Given the description of an element on the screen output the (x, y) to click on. 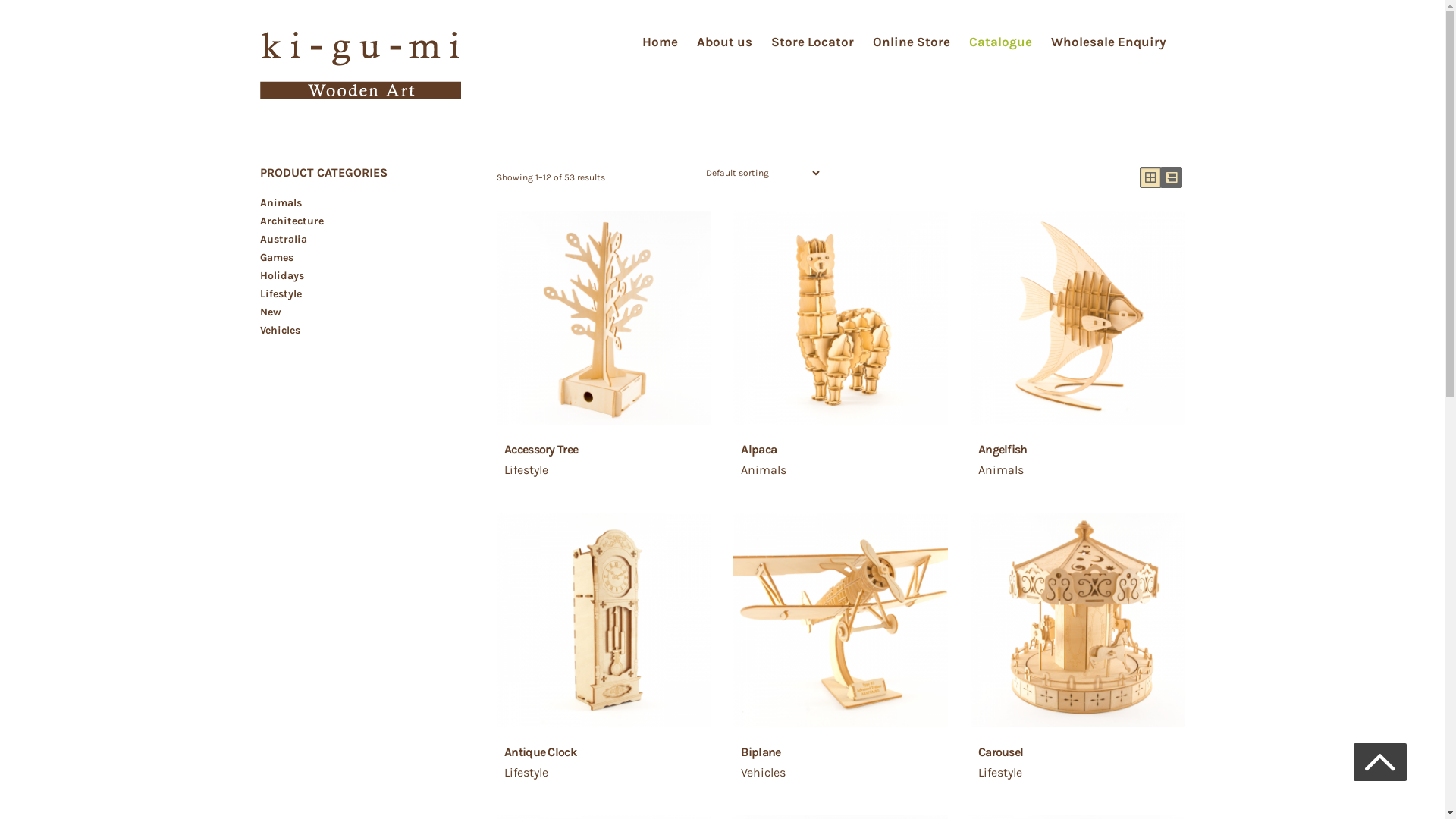
Holidays Element type: text (281, 275)
New Element type: text (269, 311)
Home Element type: text (659, 41)
Online Store Element type: text (910, 41)
Store Locator Element type: text (811, 41)
Vehicles Element type: text (279, 329)
Accessory Tree Element type: text (611, 456)
Biplane Element type: text (847, 759)
Alpaca Element type: text (847, 456)
Animals Element type: text (1000, 469)
Animals Element type: text (763, 469)
Lifestyle Element type: text (1000, 772)
Games Element type: text (275, 257)
Vehicles Element type: text (762, 772)
About us Element type: text (723, 41)
Lifestyle Element type: text (526, 772)
Antique Clock Element type: text (611, 759)
Architecture Element type: text (291, 220)
Lifestyle Element type: text (280, 293)
Lifestyle Element type: text (526, 469)
Animals Element type: text (280, 202)
Australia Element type: text (282, 238)
Angelfish Element type: text (1085, 456)
List view Element type: hover (1170, 177)
Catalogue Element type: text (1000, 41)
Wholesale Enquiry Element type: text (1108, 41)
Grid view Element type: hover (1149, 177)
Carousel Element type: text (1085, 759)
